Given the description of an element on the screen output the (x, y) to click on. 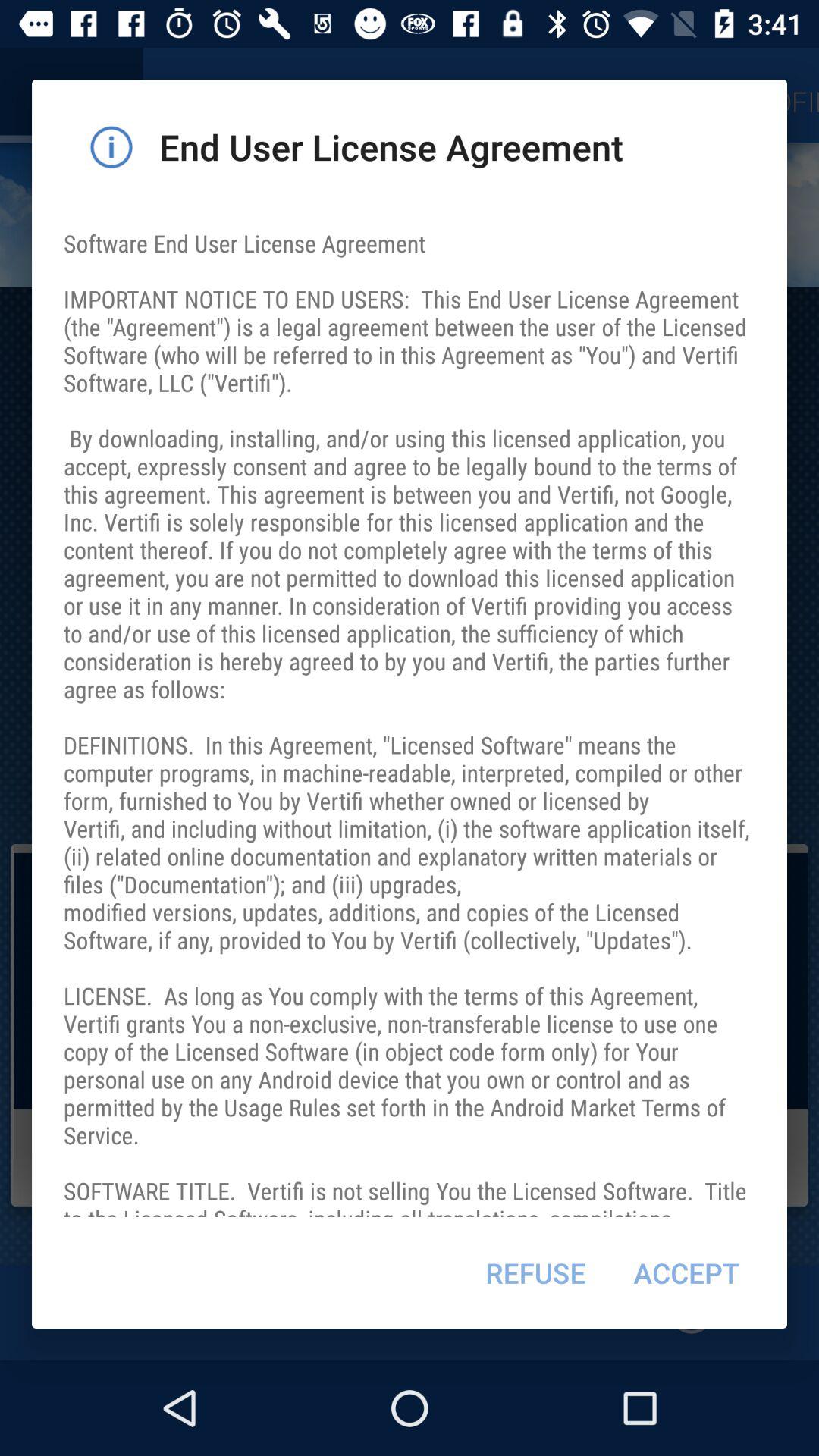
press item to the right of the refuse item (686, 1272)
